Given the description of an element on the screen output the (x, y) to click on. 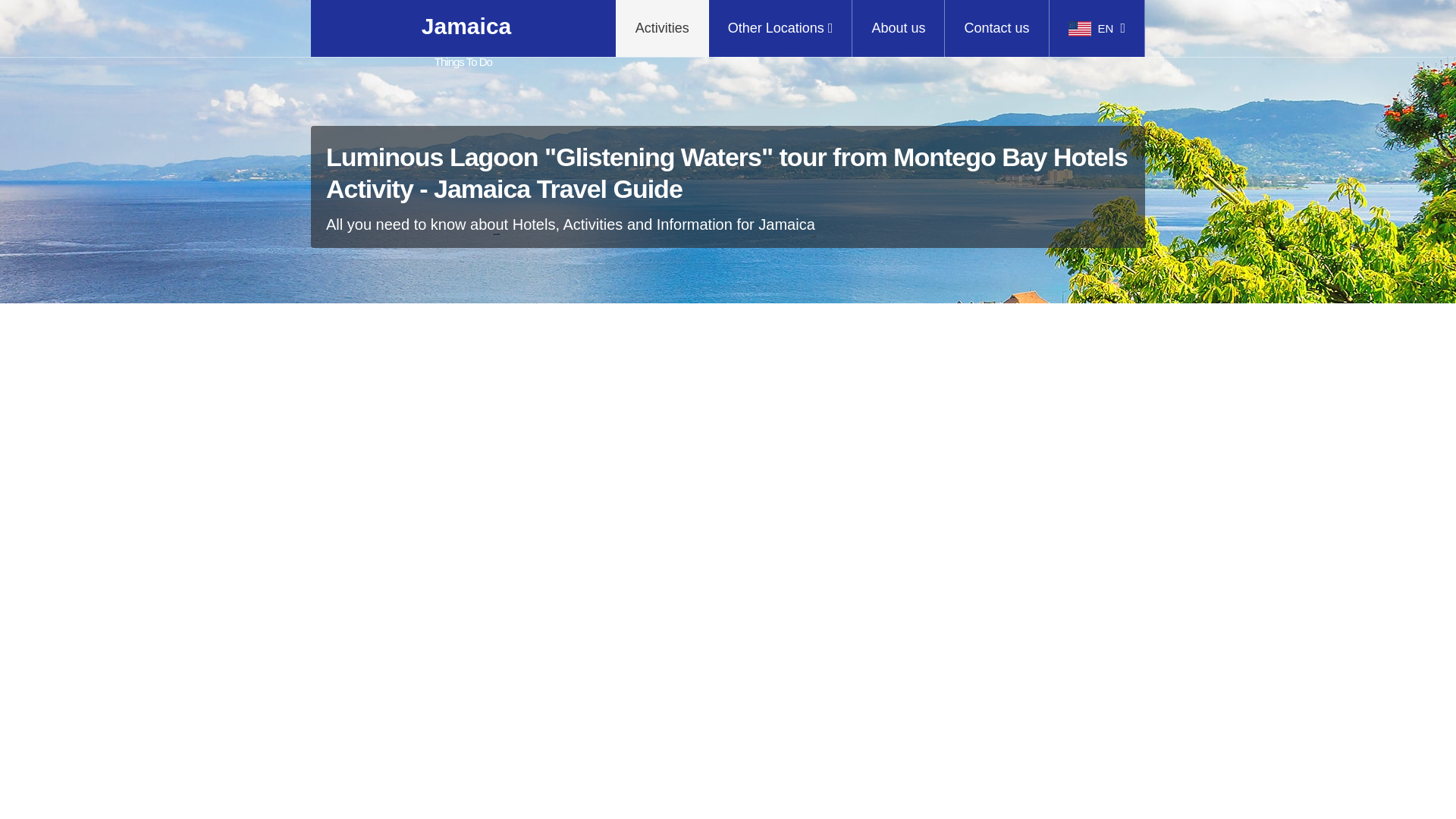
Other Locations (781, 28)
Jamaica Other Locations (781, 28)
Activities (461, 28)
Jamaica Activities (662, 28)
